Given the description of an element on the screen output the (x, y) to click on. 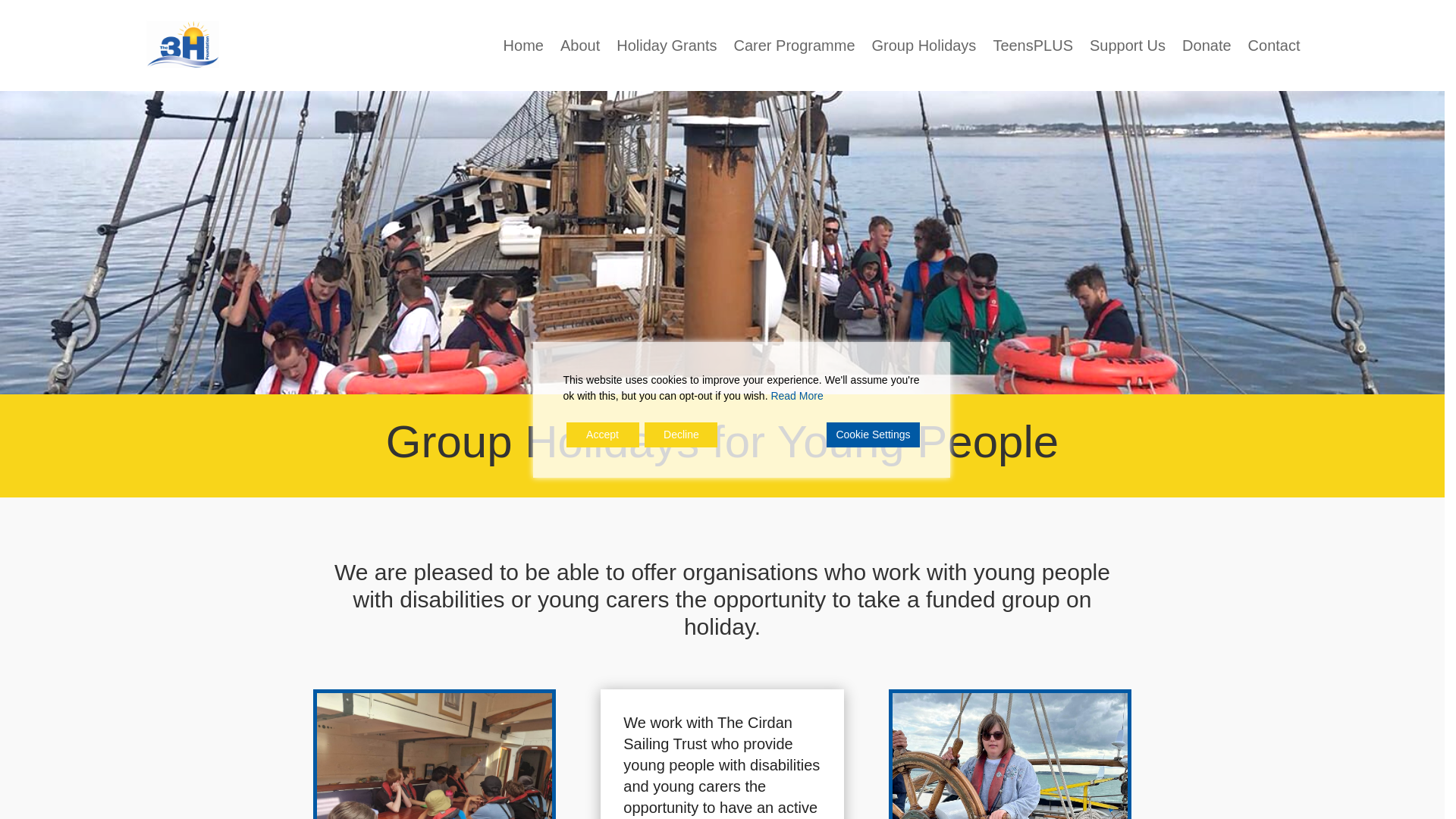
Decline (681, 433)
Cookie Settings (872, 433)
Group Holidays (924, 45)
Holiday Grants (665, 45)
Sailing Holidays (1009, 755)
Accept (602, 433)
Support Us (1127, 45)
Basingstoke and District young carers 13 (434, 755)
TeensPLUS (1032, 45)
Read More (796, 395)
